Given the description of an element on the screen output the (x, y) to click on. 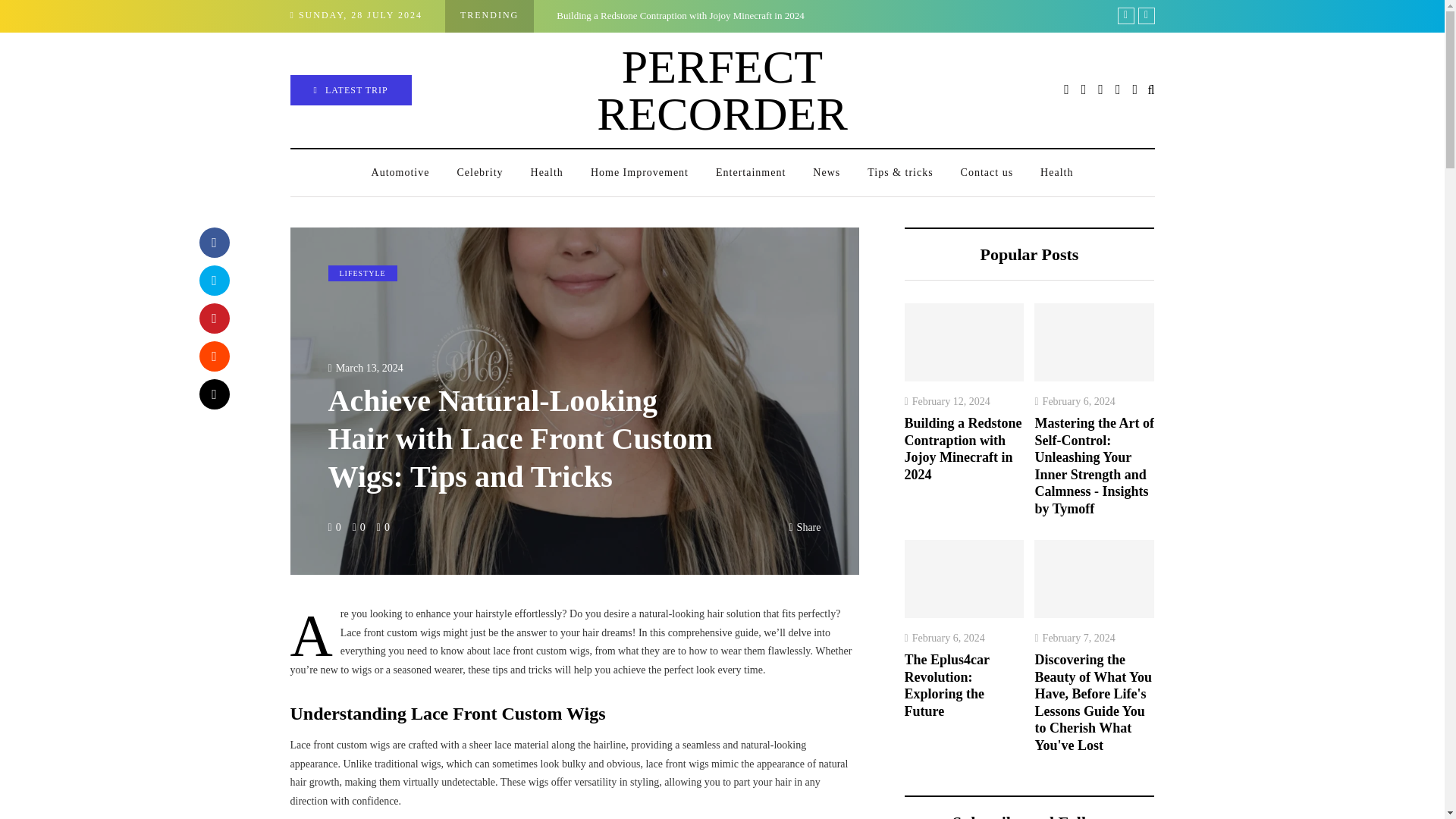
News (826, 172)
Share with Facebook (213, 242)
Contact us (987, 172)
Entertainment (750, 172)
Celebrity (479, 172)
LATEST TRIP (349, 90)
PERFECT RECORDER (721, 89)
Share by Email (213, 394)
Share on Reddit (213, 356)
LIFESTYLE (361, 273)
0 (338, 527)
Pin this (213, 318)
Building a Redstone Contraption with Jojoy Minecraft in 2024 (679, 15)
Home Improvement (638, 172)
Tweet this (213, 280)
